Given the description of an element on the screen output the (x, y) to click on. 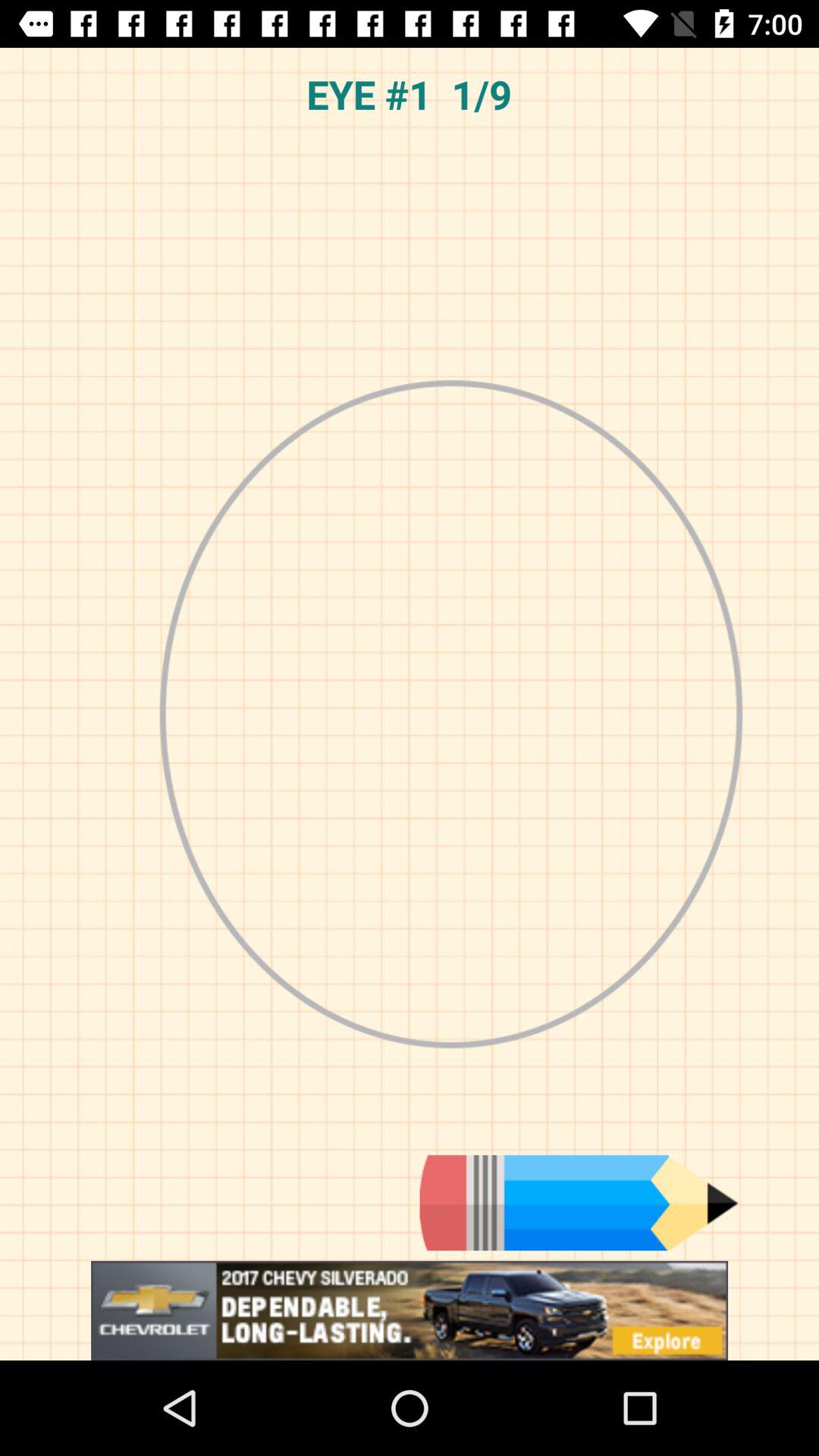
select pencil (578, 1202)
